Given the description of an element on the screen output the (x, y) to click on. 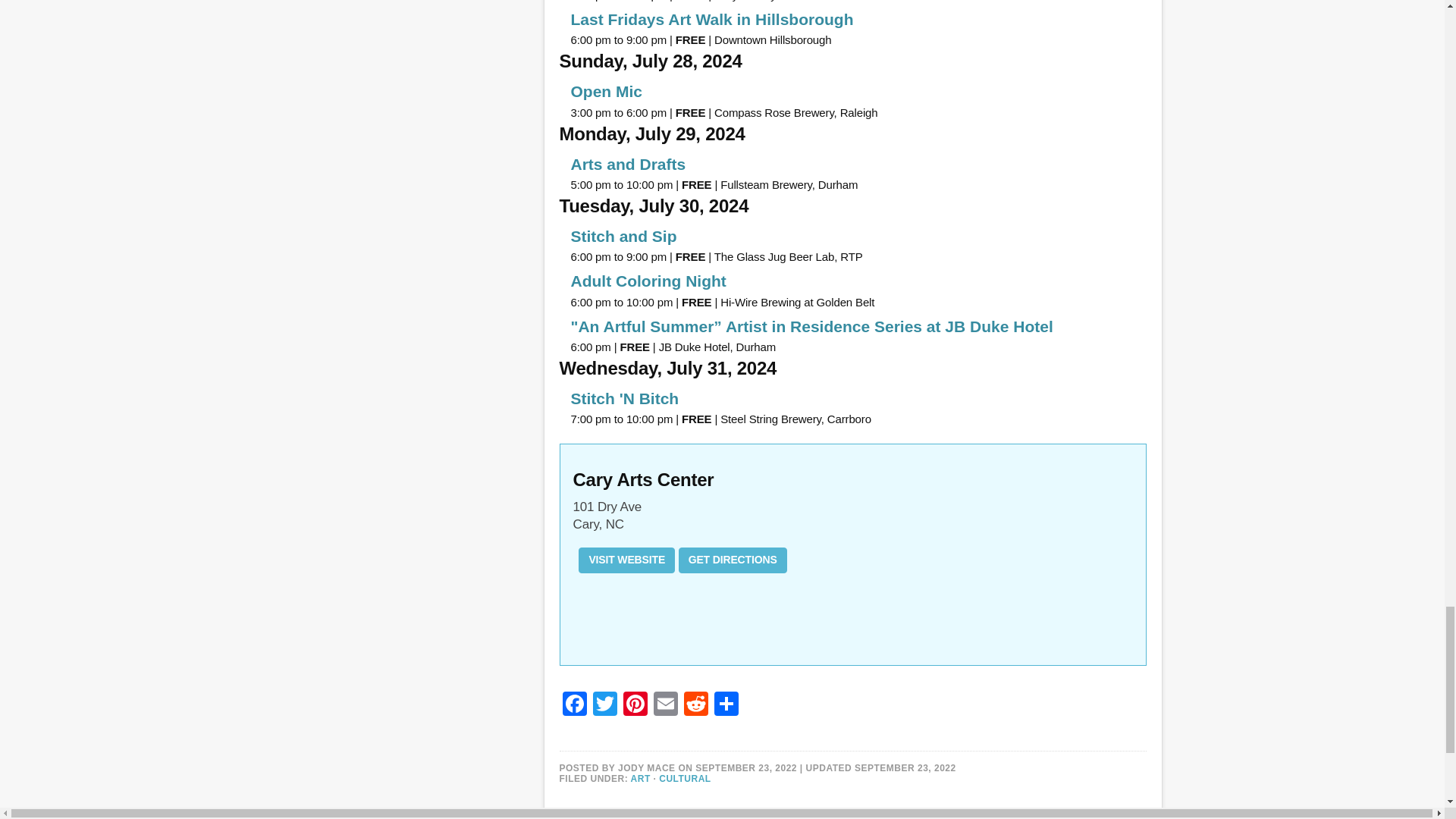
Email (665, 705)
Reddit (696, 705)
Facebook (574, 705)
Twitter (604, 705)
Pinterest (635, 705)
